Given the description of an element on the screen output the (x, y) to click on. 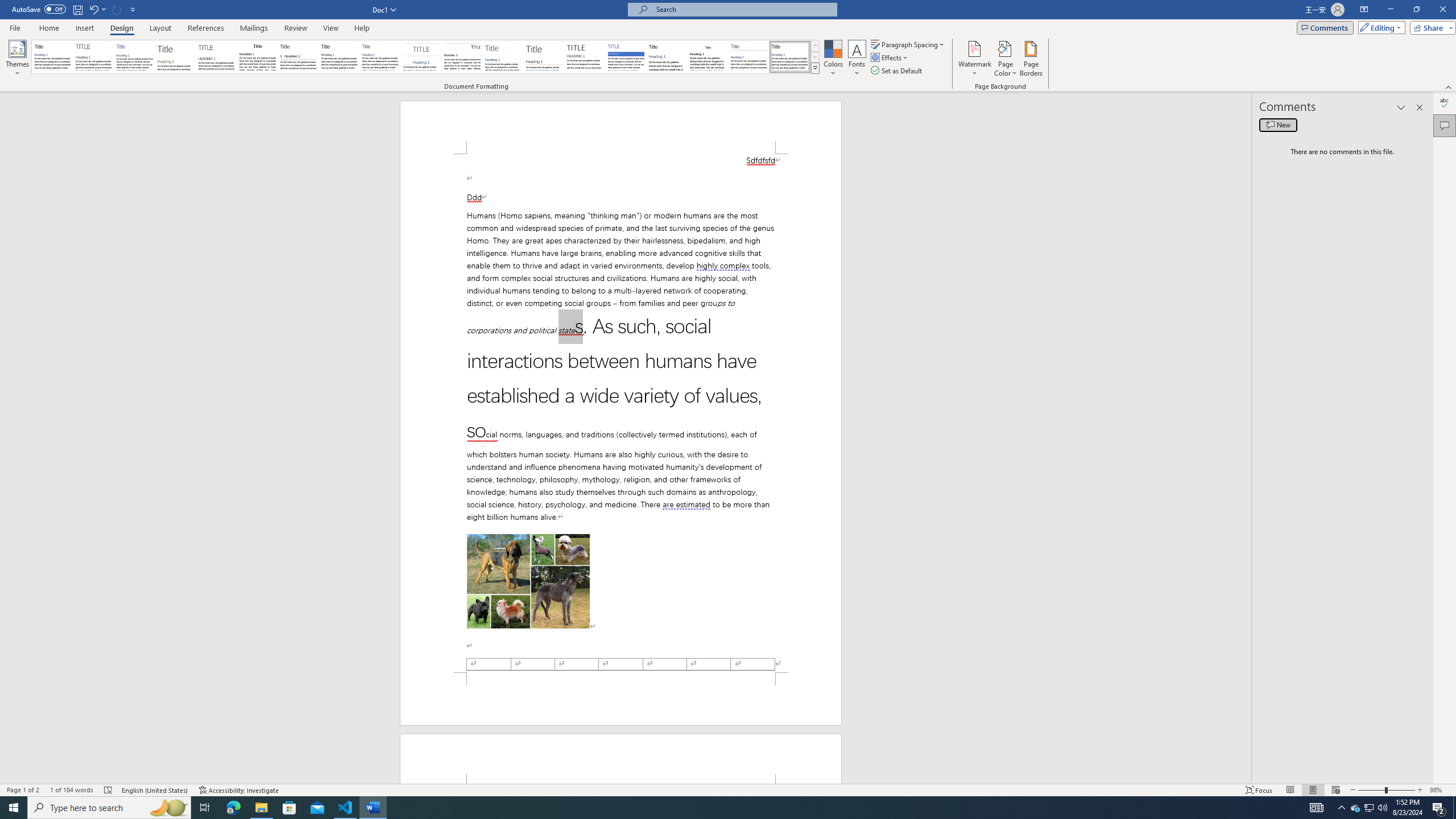
Lines (Distinctive) (462, 56)
Page Number Page 1 of 2 (22, 790)
Paragraph Spacing (908, 44)
New comment (1278, 124)
Casual (379, 56)
